Given the description of an element on the screen output the (x, y) to click on. 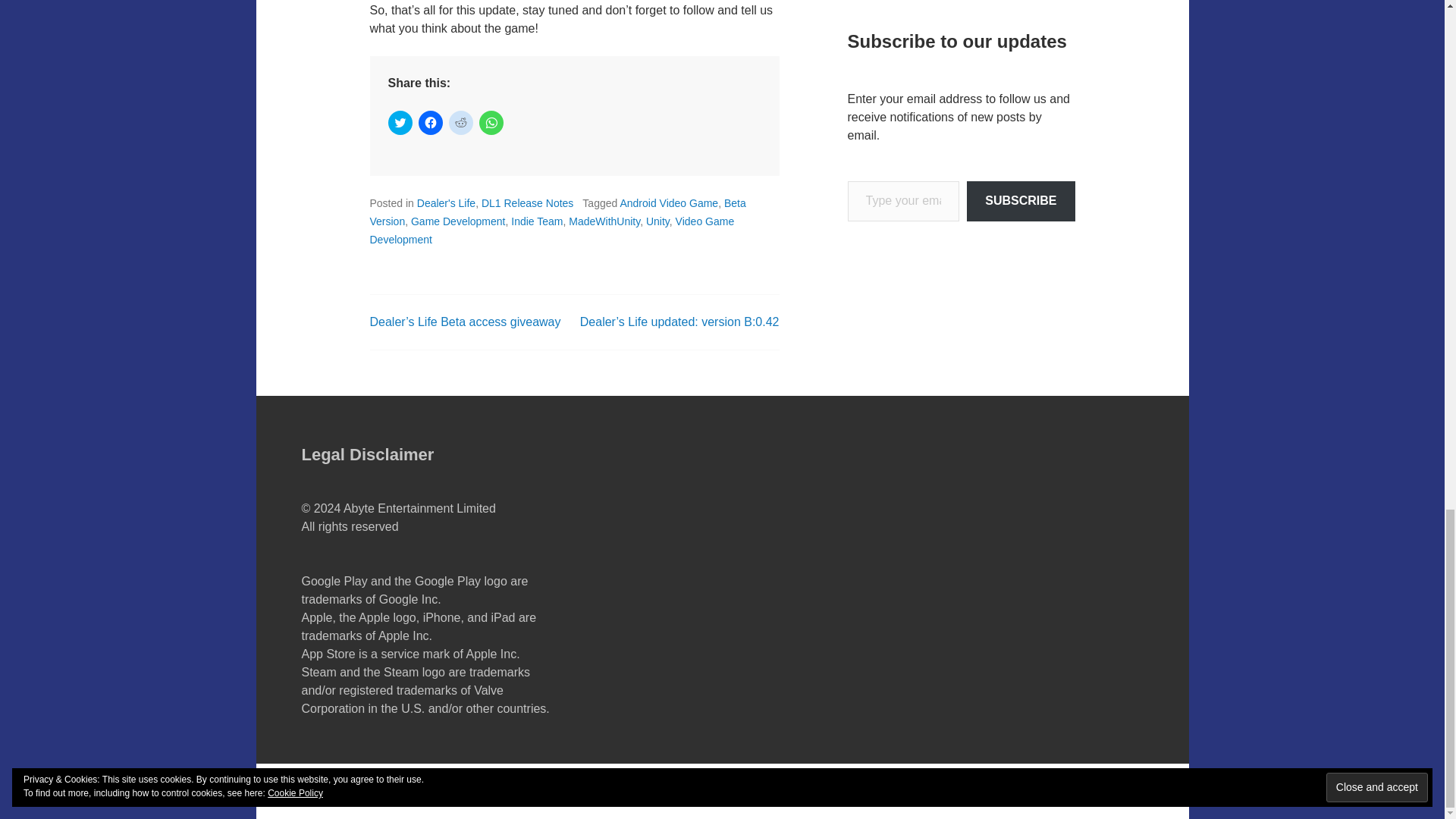
Unity (657, 221)
Dealer's Life (446, 203)
Beta Version (557, 212)
DL1 Release Notes (527, 203)
MadeWithUnity (604, 221)
Click to share on WhatsApp (491, 122)
Please fill in this field. (903, 200)
Click to share on Twitter (400, 122)
Android Video Game (668, 203)
Click to share on Reddit (460, 122)
